Given the description of an element on the screen output the (x, y) to click on. 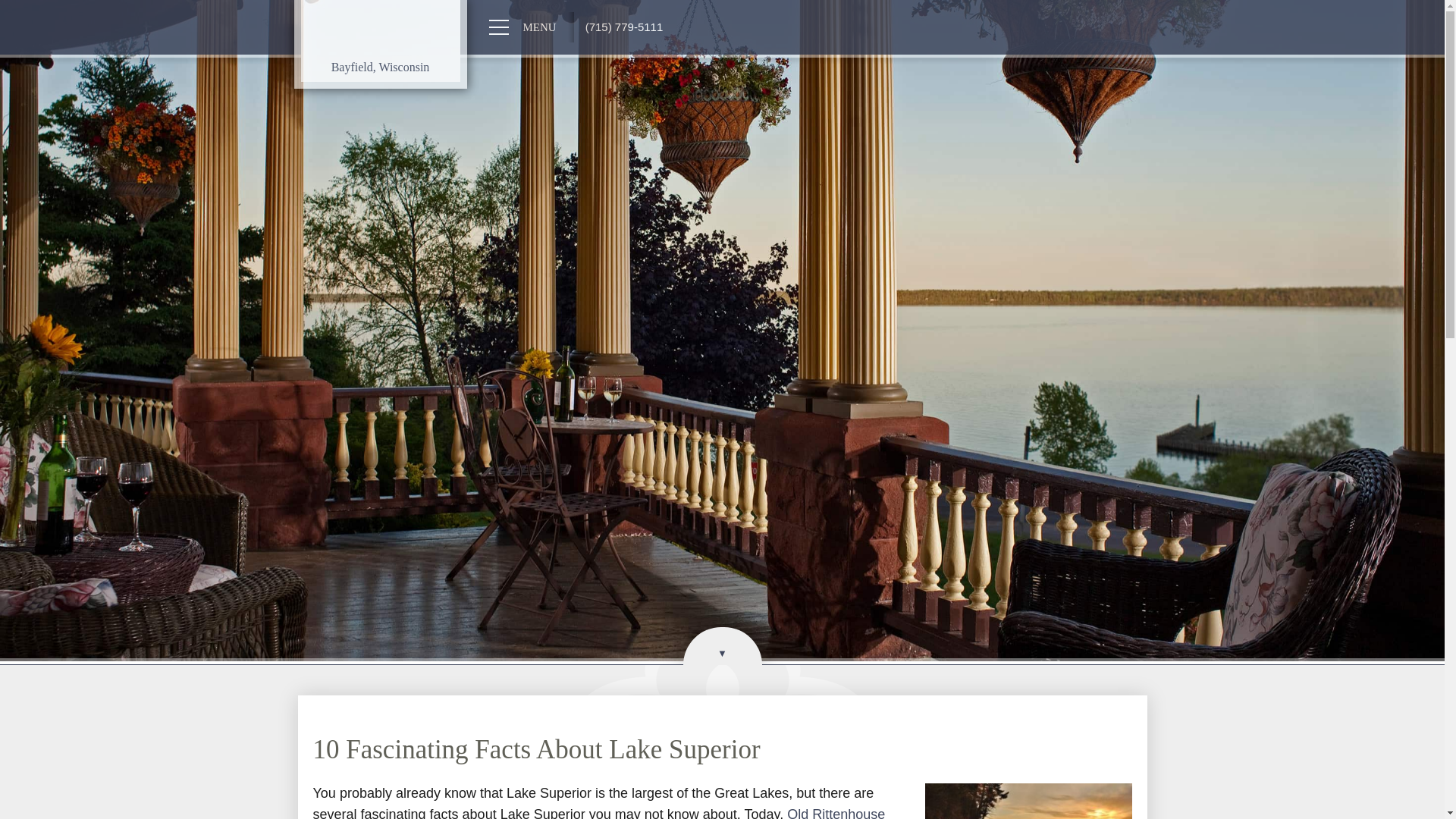
Old Rittenhouse Inn (380, 30)
MENU (518, 27)
Old Rittenhouse Inn (380, 30)
